Given the description of an element on the screen output the (x, y) to click on. 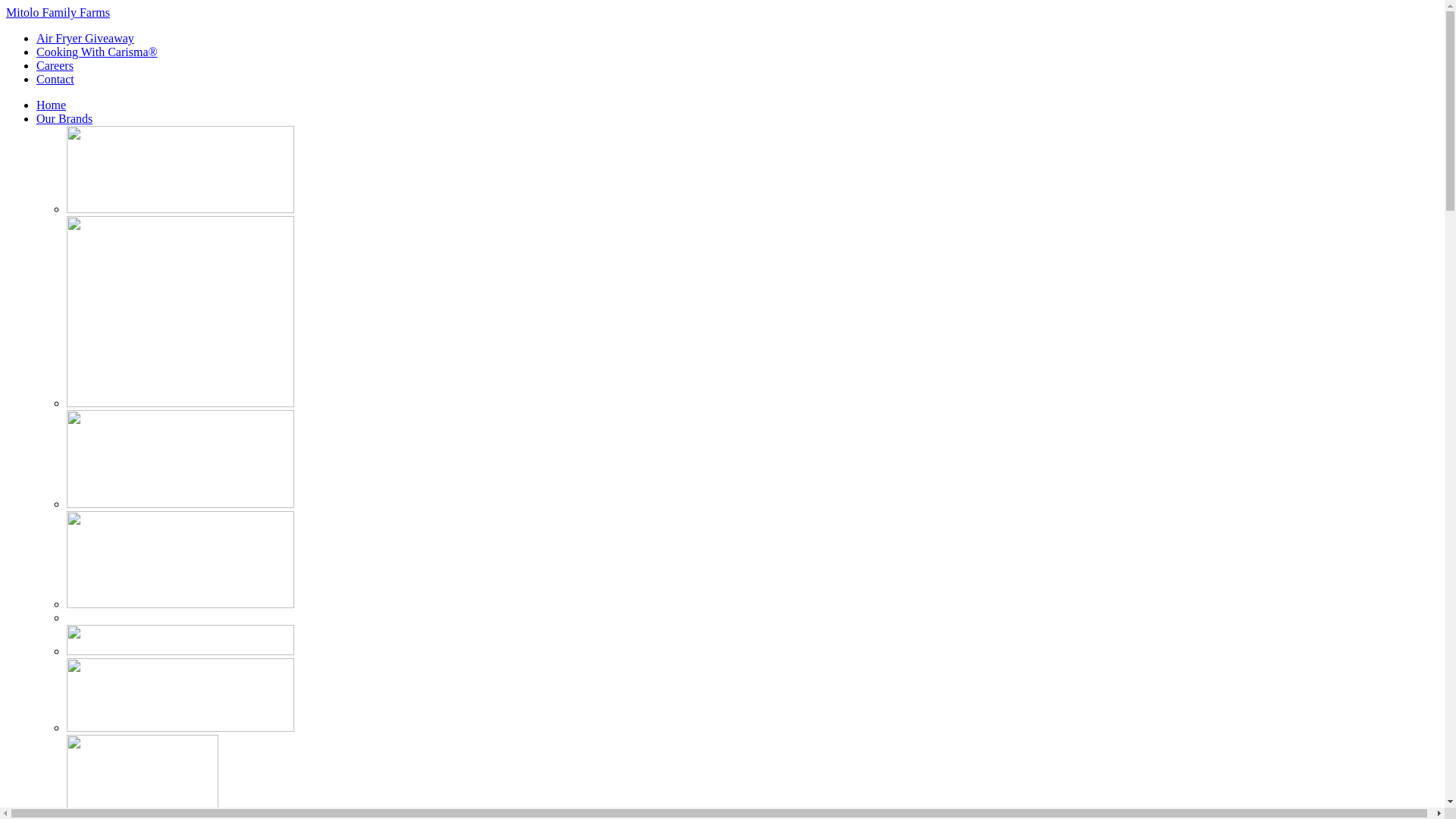
Contact Element type: text (55, 78)
Home Element type: text (50, 104)
Our Brands Element type: text (64, 118)
Air Fryer Giveaway Element type: text (85, 37)
Mitolo Family Farms Element type: text (57, 12)
Careers Element type: text (54, 65)
